Given the description of an element on the screen output the (x, y) to click on. 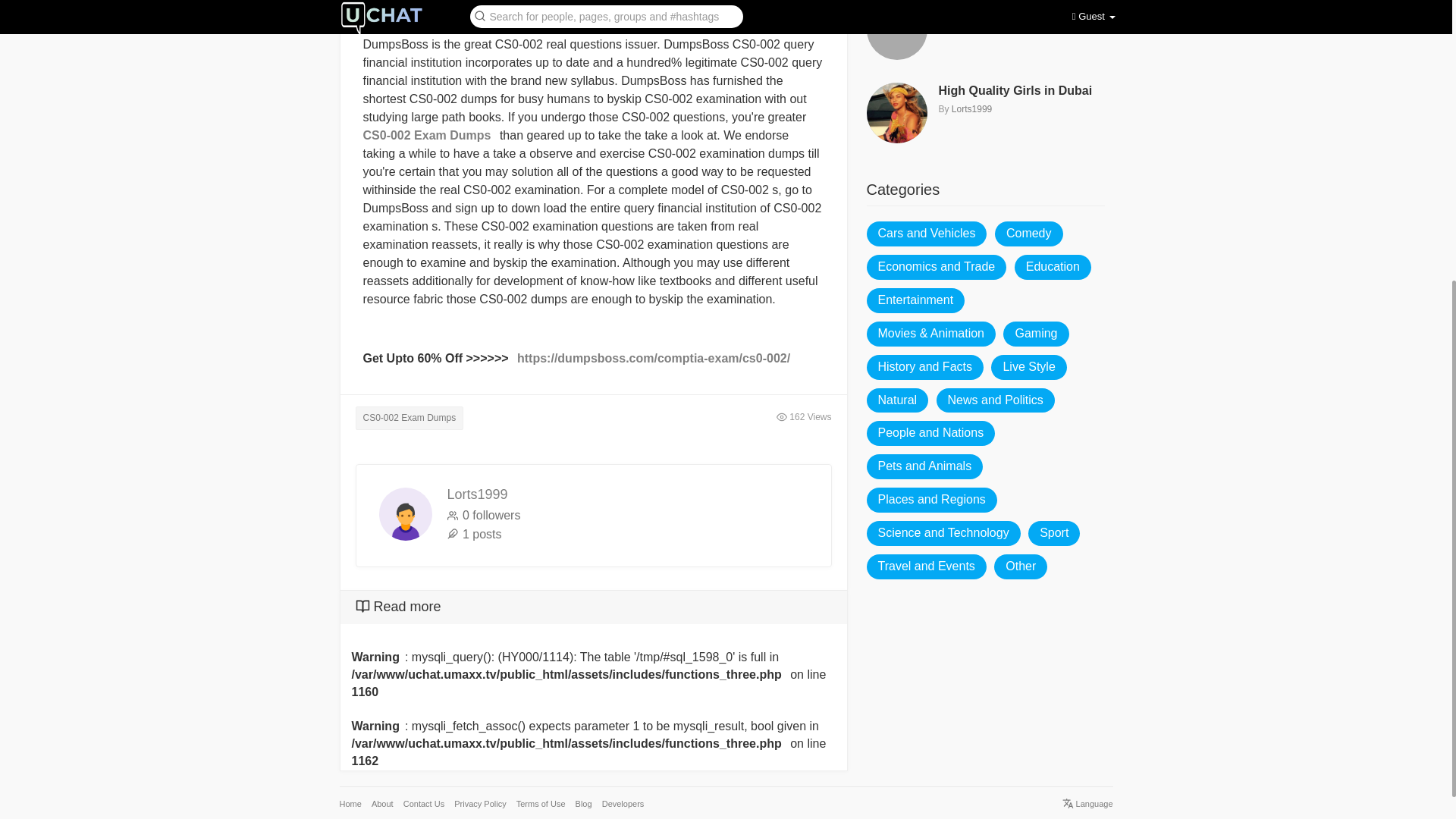
Economics and Trade (936, 267)
Lorts1999 (477, 494)
Lorts1999 (971, 109)
Comedy (1028, 233)
Adidas Shoes Yeezy shoes (1022, 7)
CS0-002 Exam Dumps (409, 417)
High Quality Girls in Dubai (1022, 90)
Cars and Vehicles (926, 233)
CS0-002 Exam Dumps (429, 134)
Lorts1999 (971, 25)
